Given the description of an element on the screen output the (x, y) to click on. 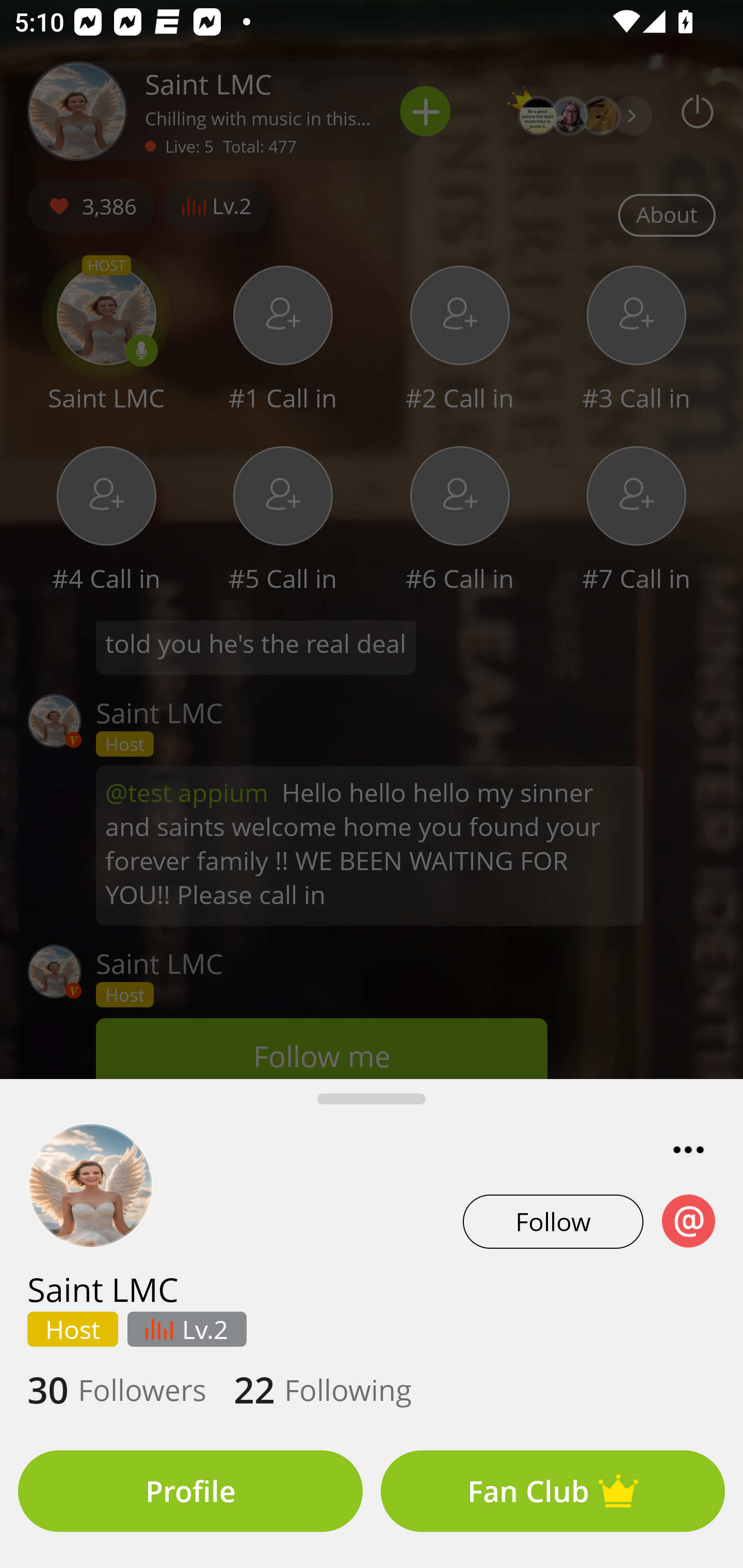
Follow (552, 1221)
Profile (189, 1490)
Fan Club (552, 1490)
